Given the description of an element on the screen output the (x, y) to click on. 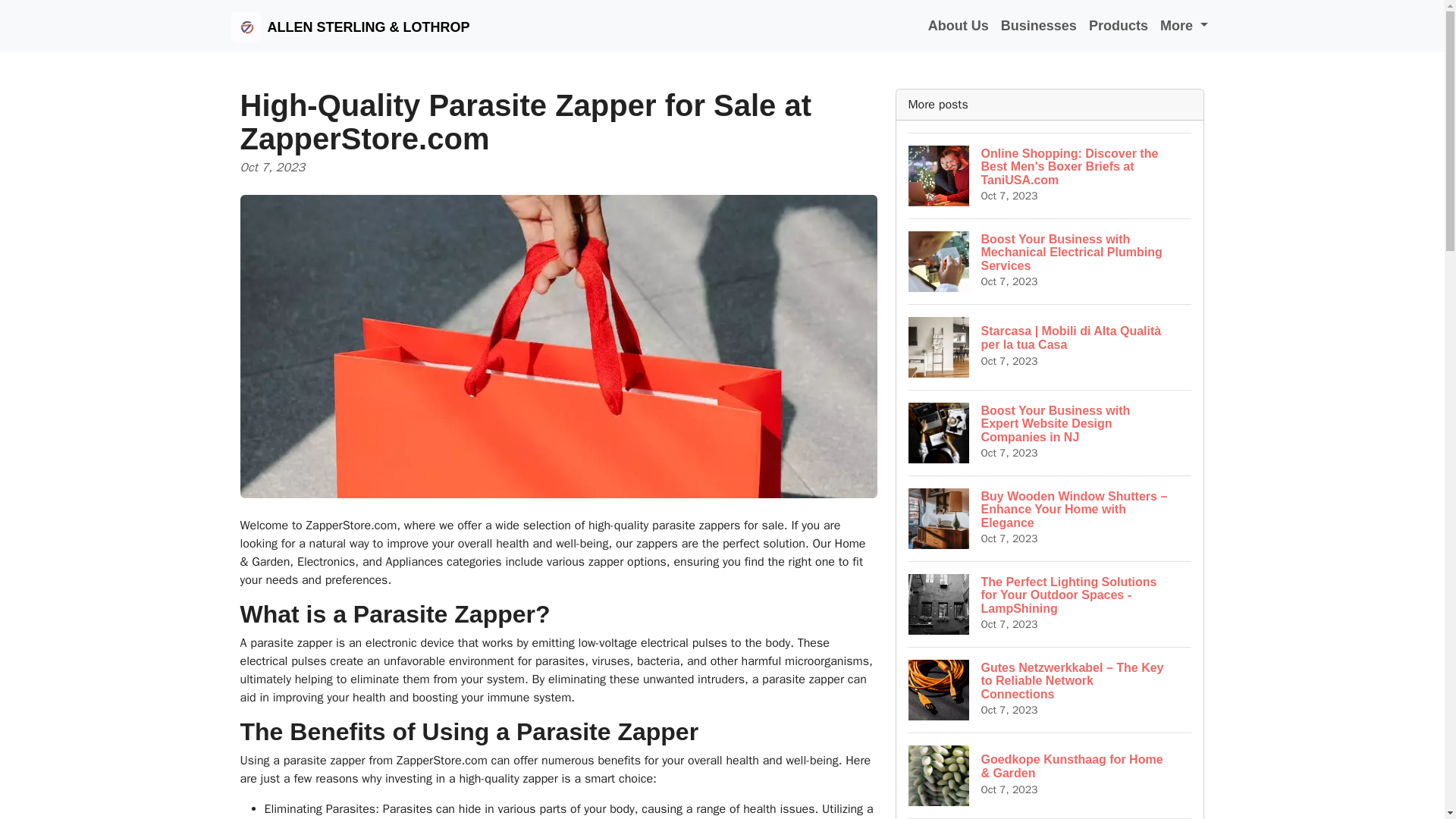
About Us (957, 25)
Businesses (1038, 25)
Products (1118, 25)
More (1184, 25)
